Given the description of an element on the screen output the (x, y) to click on. 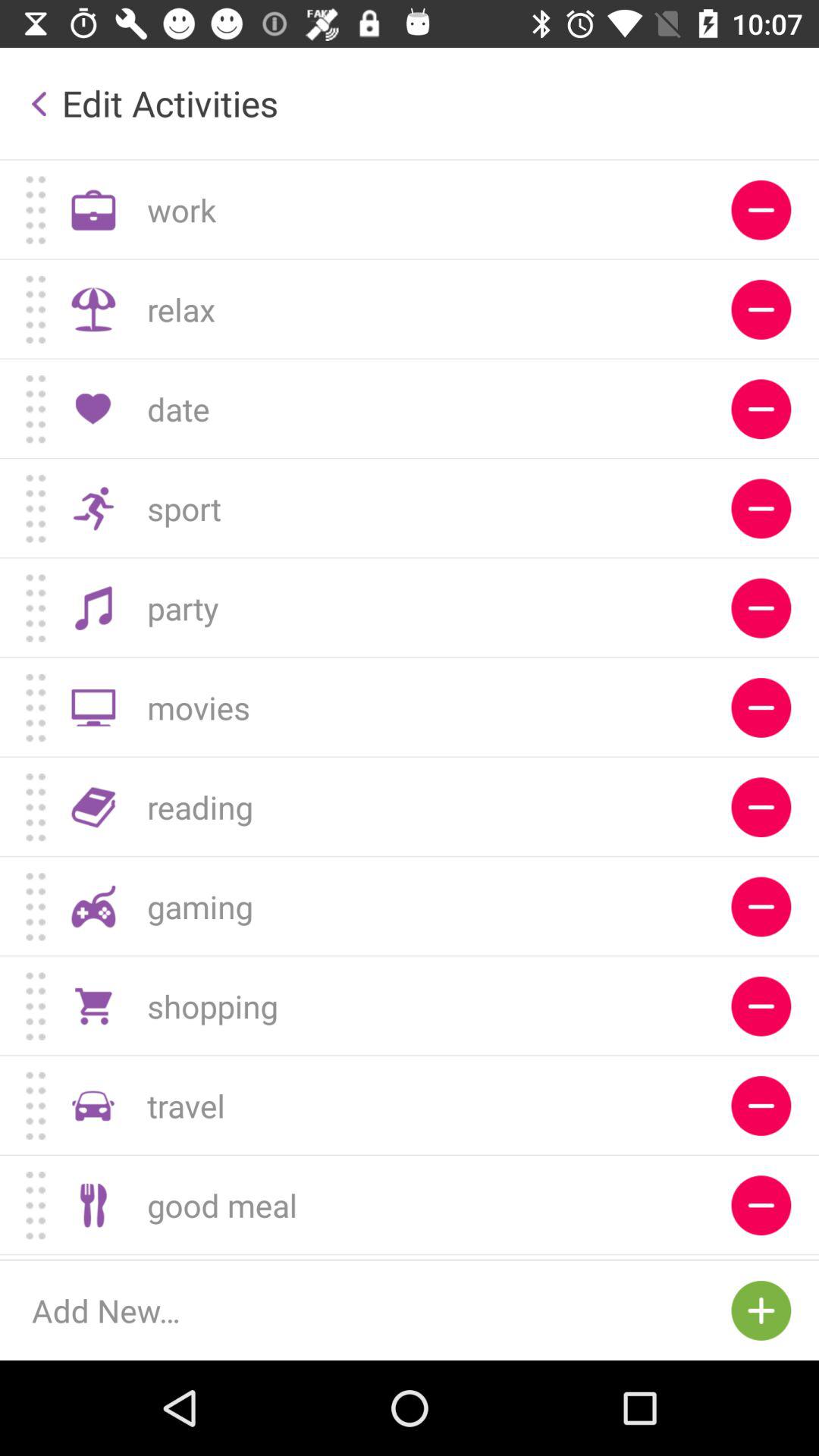
delete movies activity (761, 707)
